Given the description of an element on the screen output the (x, y) to click on. 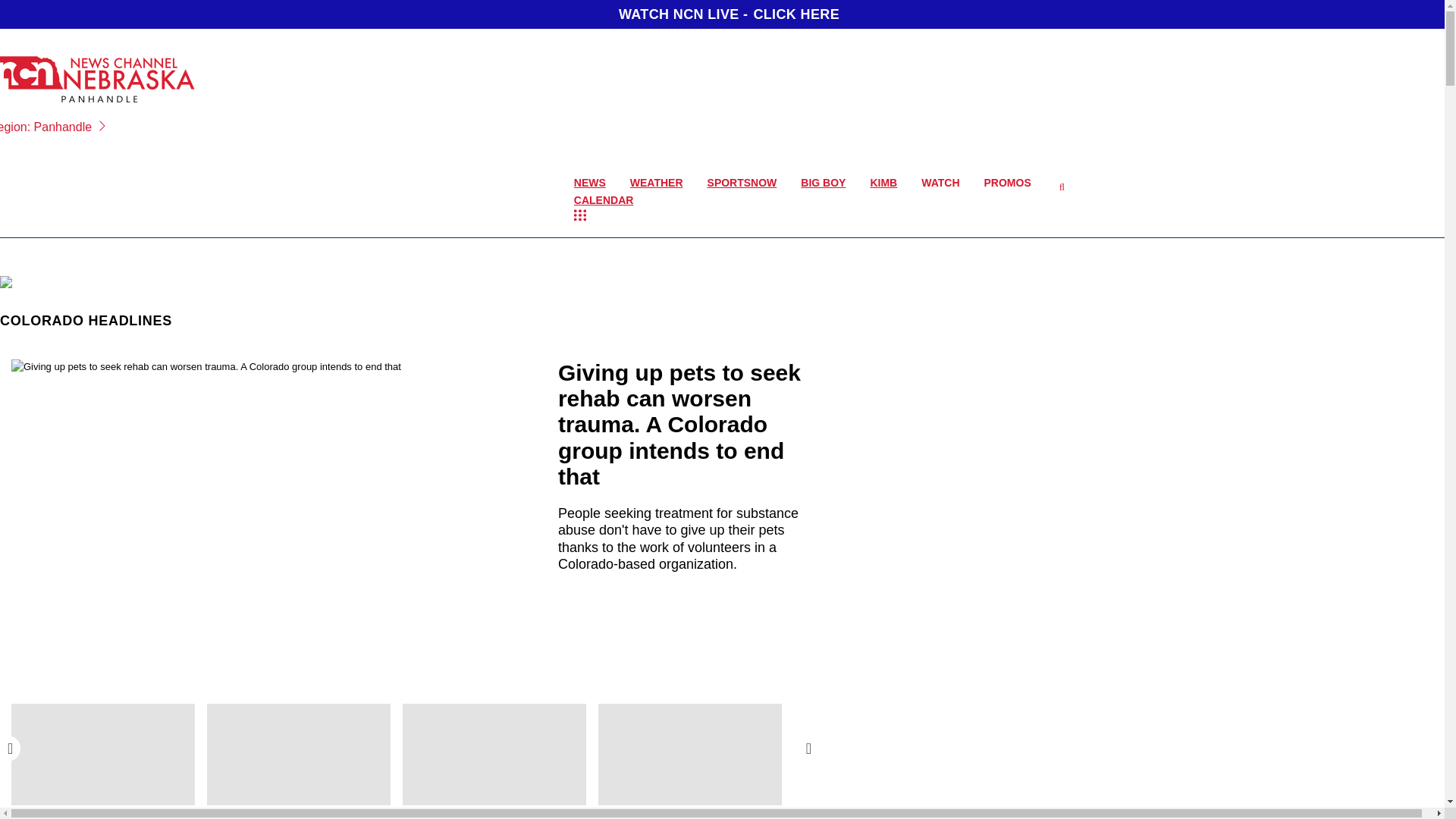
SPORTSNOW (742, 182)
NEWS (589, 182)
WEATHER (656, 182)
